Given the description of an element on the screen output the (x, y) to click on. 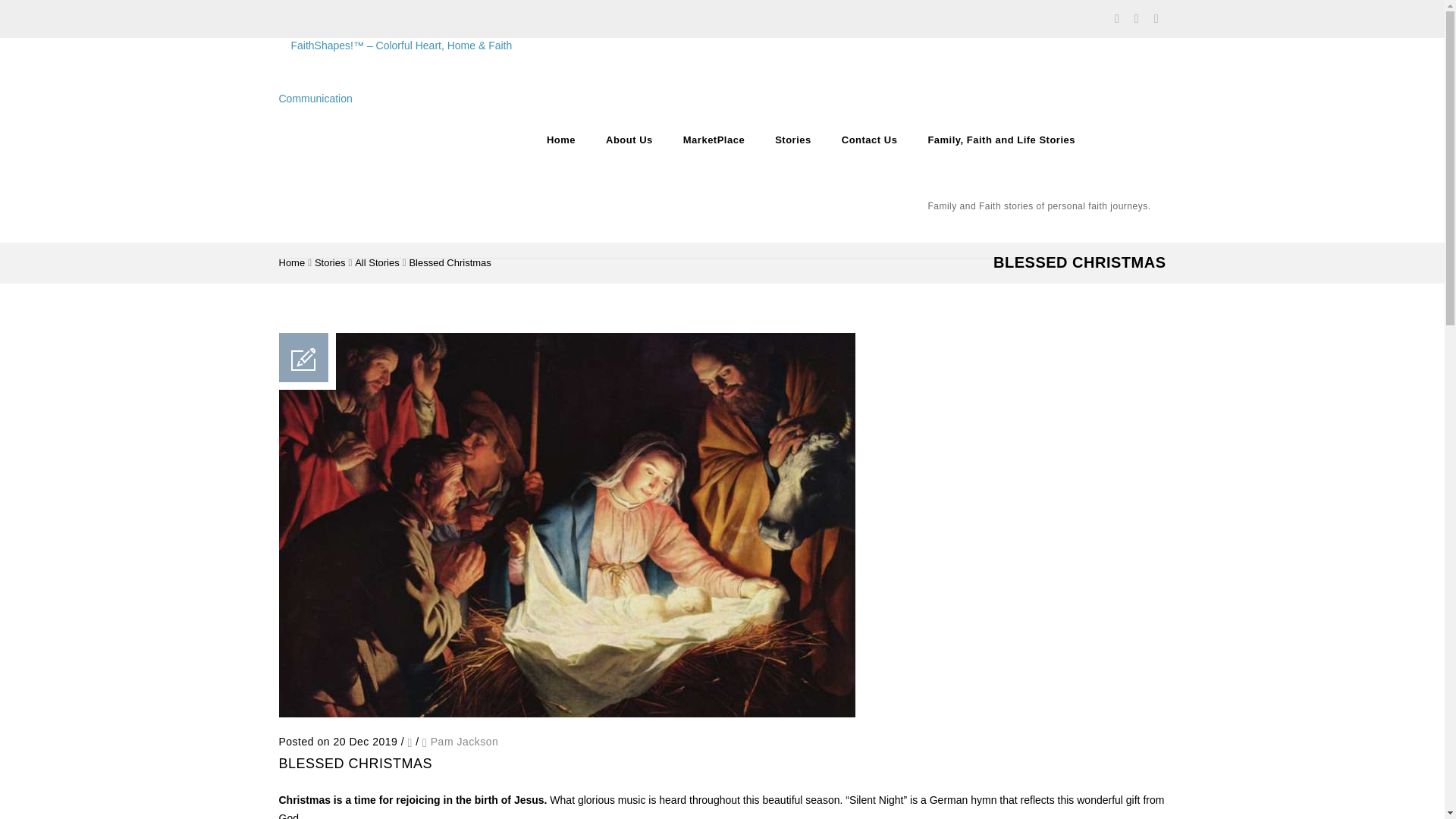
Permalink to Blessed Christmas (355, 763)
MarketPlace (714, 140)
All Stories (376, 262)
Stories (793, 140)
Permalink to Blessed Christmas (567, 713)
About Us (629, 140)
Pam Jackson (464, 741)
BLESSED CHRISTMAS (355, 763)
Blessed Christmas (449, 262)
Home (292, 262)
View all posts by Pam Jackson (464, 741)
Stories (329, 262)
Contact Us (869, 140)
